Given the description of an element on the screen output the (x, y) to click on. 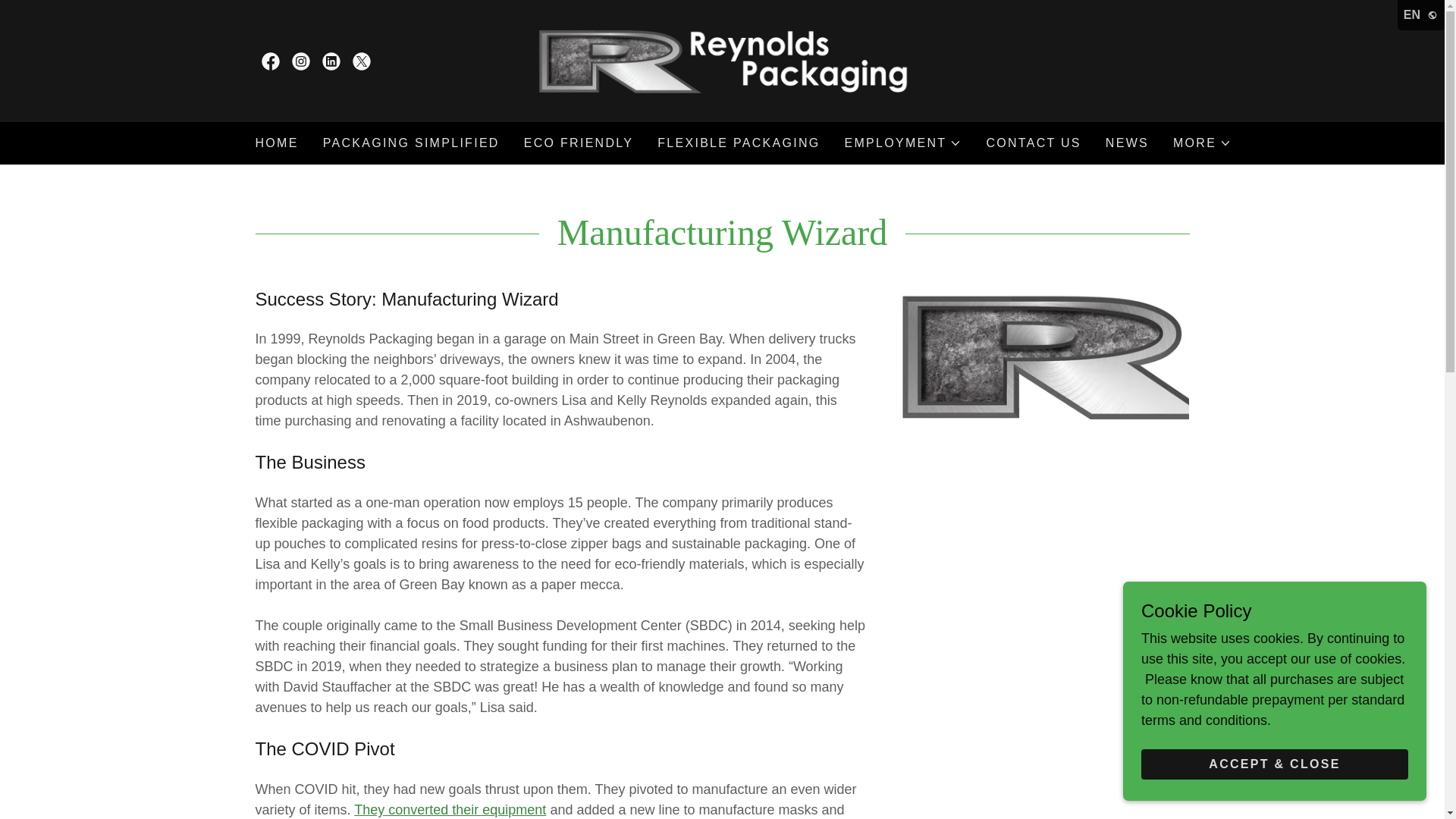
FLEXIBLE PACKAGING (738, 143)
ECO FRIENDLY (579, 143)
PACKAGING SIMPLIFIED (410, 143)
NEWS (1126, 143)
EMPLOYMENT (903, 143)
MORE (1202, 143)
HOME (276, 143)
They converted their equipment (449, 809)
Reynolds Packaging (721, 59)
CONTACT US (1032, 143)
